Given the description of an element on the screen output the (x, y) to click on. 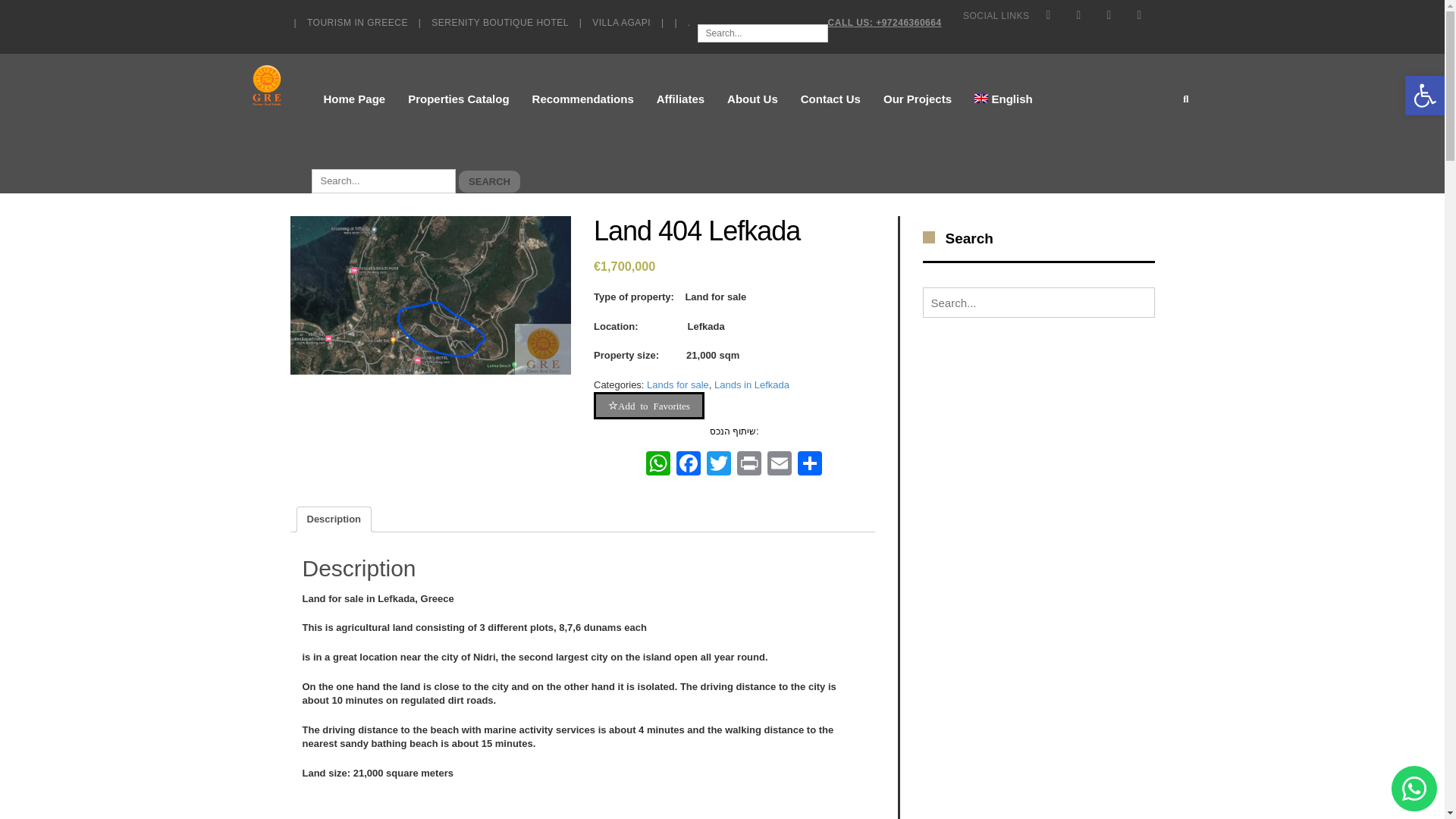
Home Page (353, 99)
. (689, 22)
FACEBOOK (1047, 15)
TOURISM IN GREECE (357, 22)
Accessibility Tools (1424, 95)
INSTAGRAM (1139, 15)
Print (748, 465)
English (1002, 99)
SERENITY BOUTIQUE HOTEL (500, 22)
Properties Catalog (457, 99)
Facebook (687, 465)
VILLA AGAPI (620, 22)
WhatsApp (657, 465)
YOUTUBE (1108, 15)
Search (383, 181)
